Given the description of an element on the screen output the (x, y) to click on. 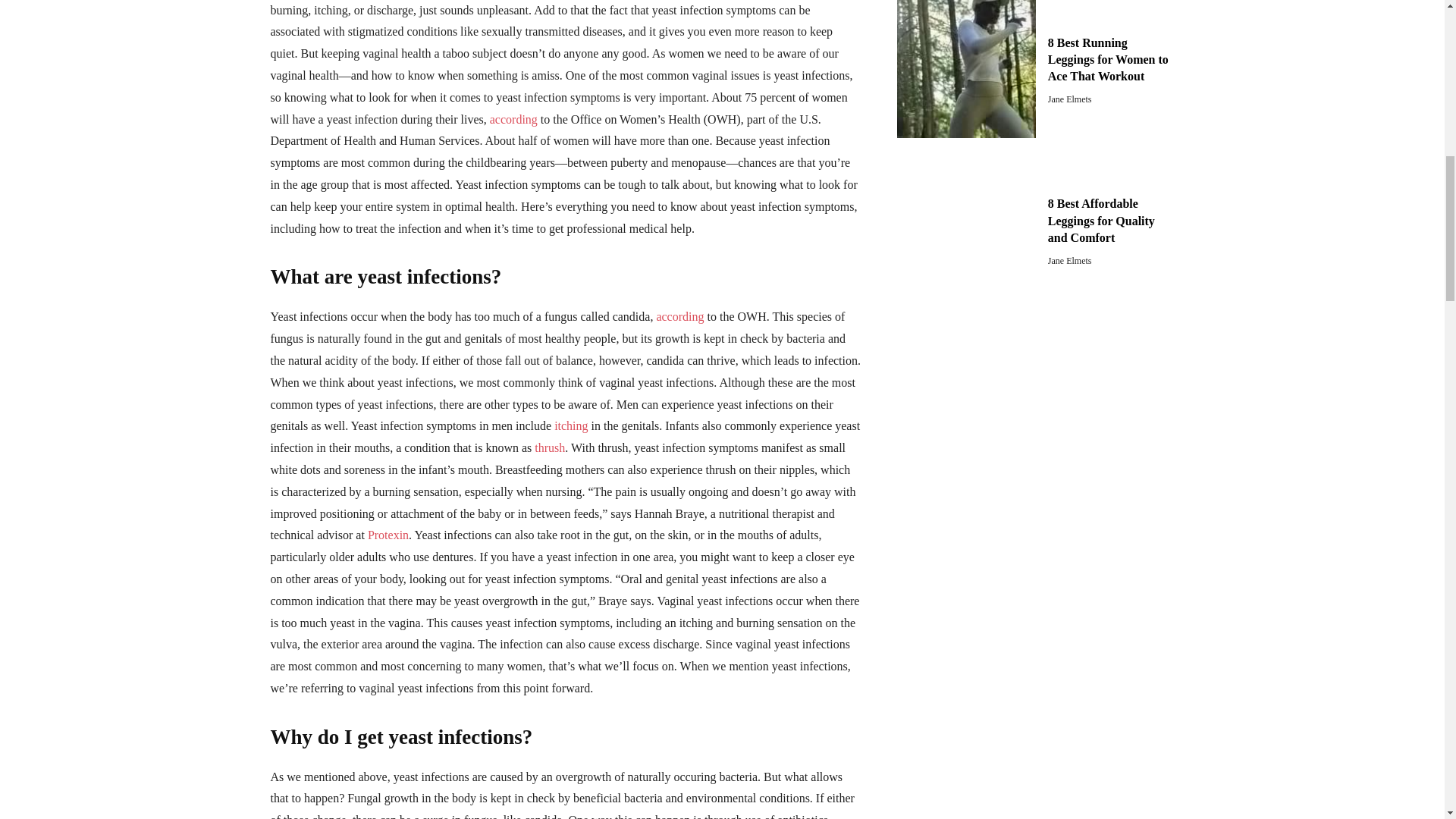
according (679, 316)
itching (571, 425)
according (513, 119)
